Given the description of an element on the screen output the (x, y) to click on. 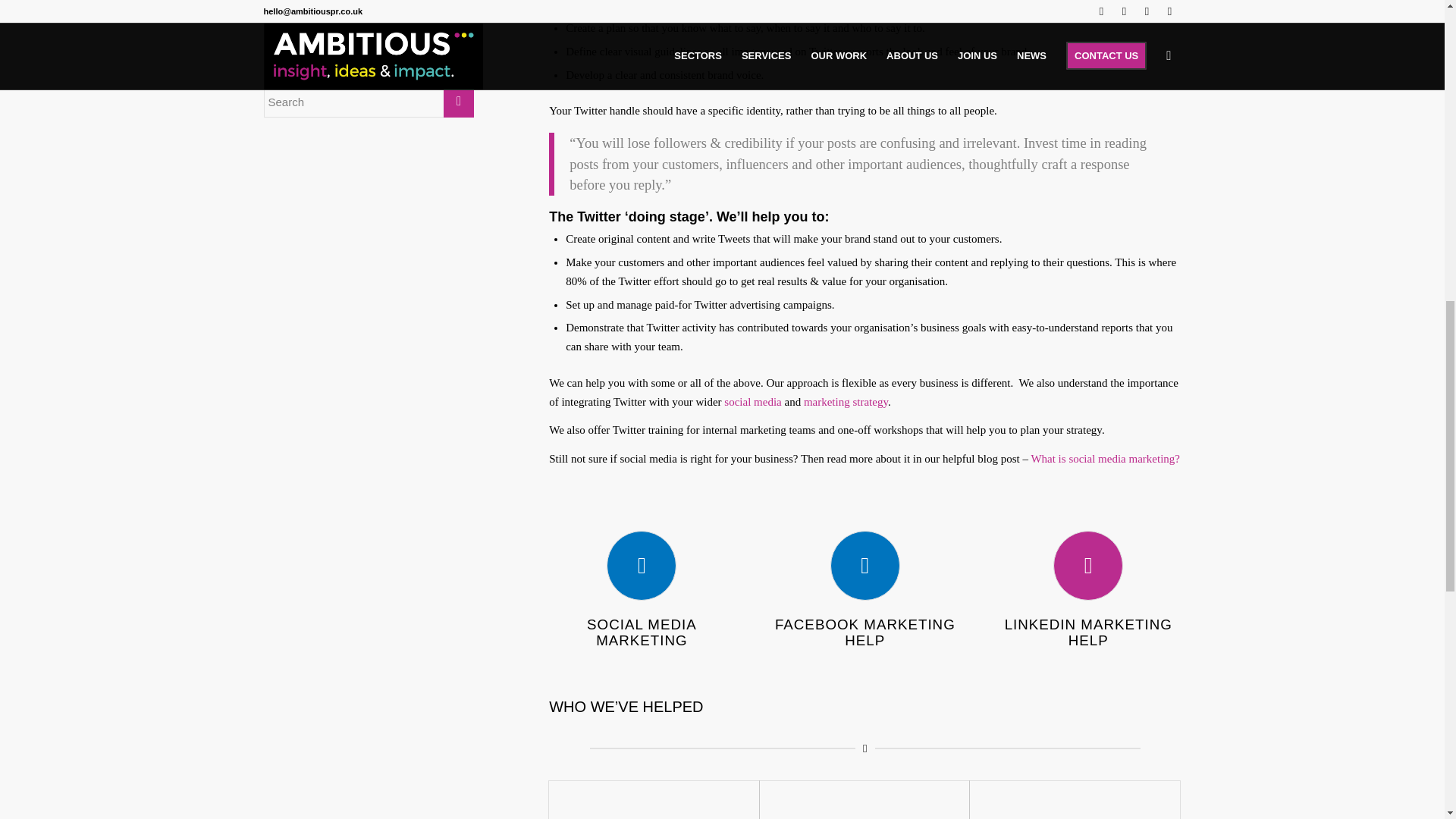
Social Media Marketing (642, 565)
Facebook Marketing Help (864, 565)
social media (751, 401)
Facebook Marketing Help (864, 632)
Social Media Marketing (641, 632)
